Given the description of an element on the screen output the (x, y) to click on. 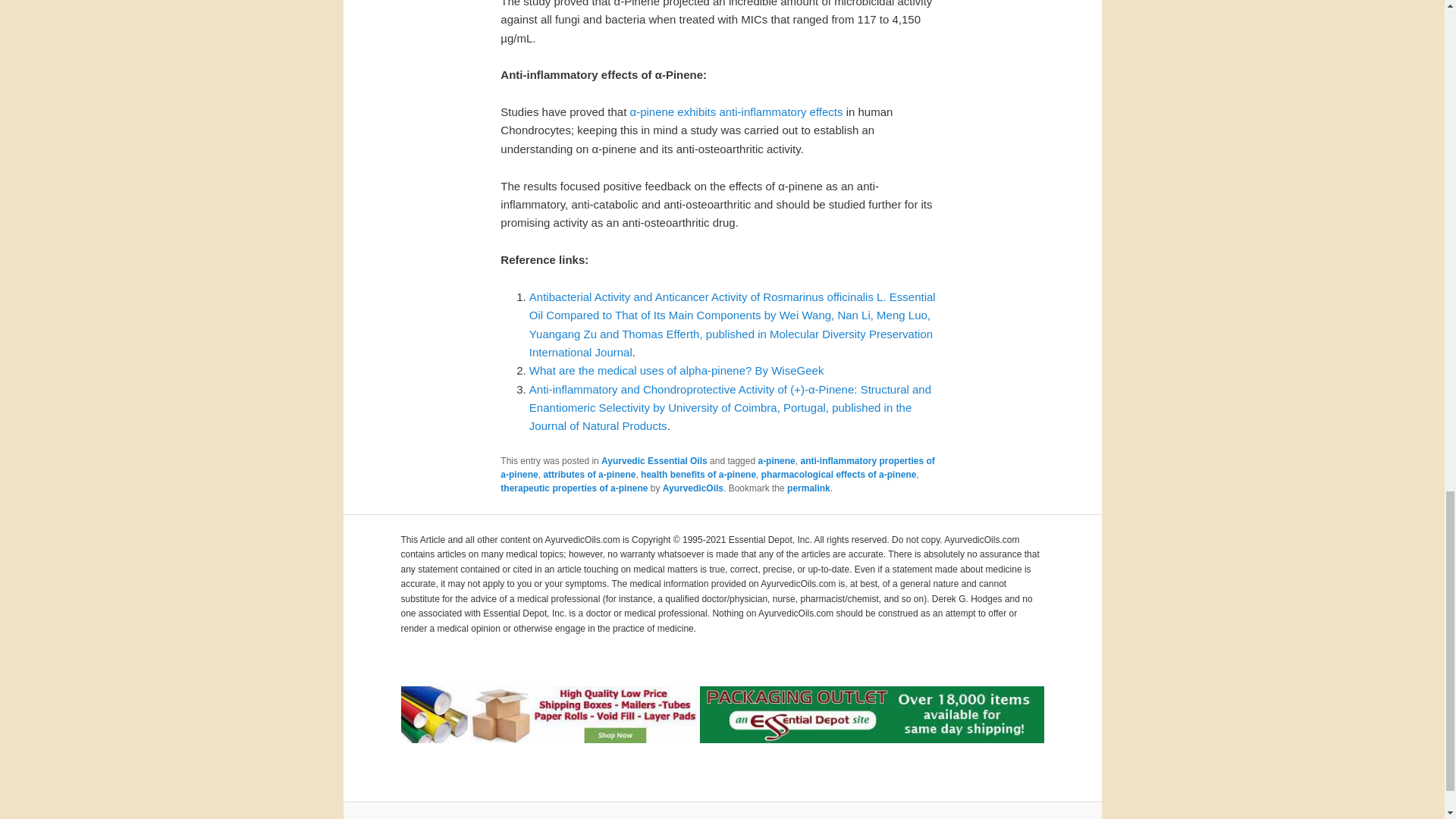
AyurvedicOils (692, 488)
attributes of a-pinene (588, 474)
What are the medical uses of alpha-pinene? By WiseGeek (676, 369)
health benefits of a-pinene (697, 474)
Ayurvedic Essential Oils (654, 460)
pharmacological effects of a-pinene (839, 474)
a-pinene (775, 460)
therapeutic properties of a-pinene (573, 488)
permalink (808, 488)
anti-inflammatory properties of a-pinene (717, 467)
